Given the description of an element on the screen output the (x, y) to click on. 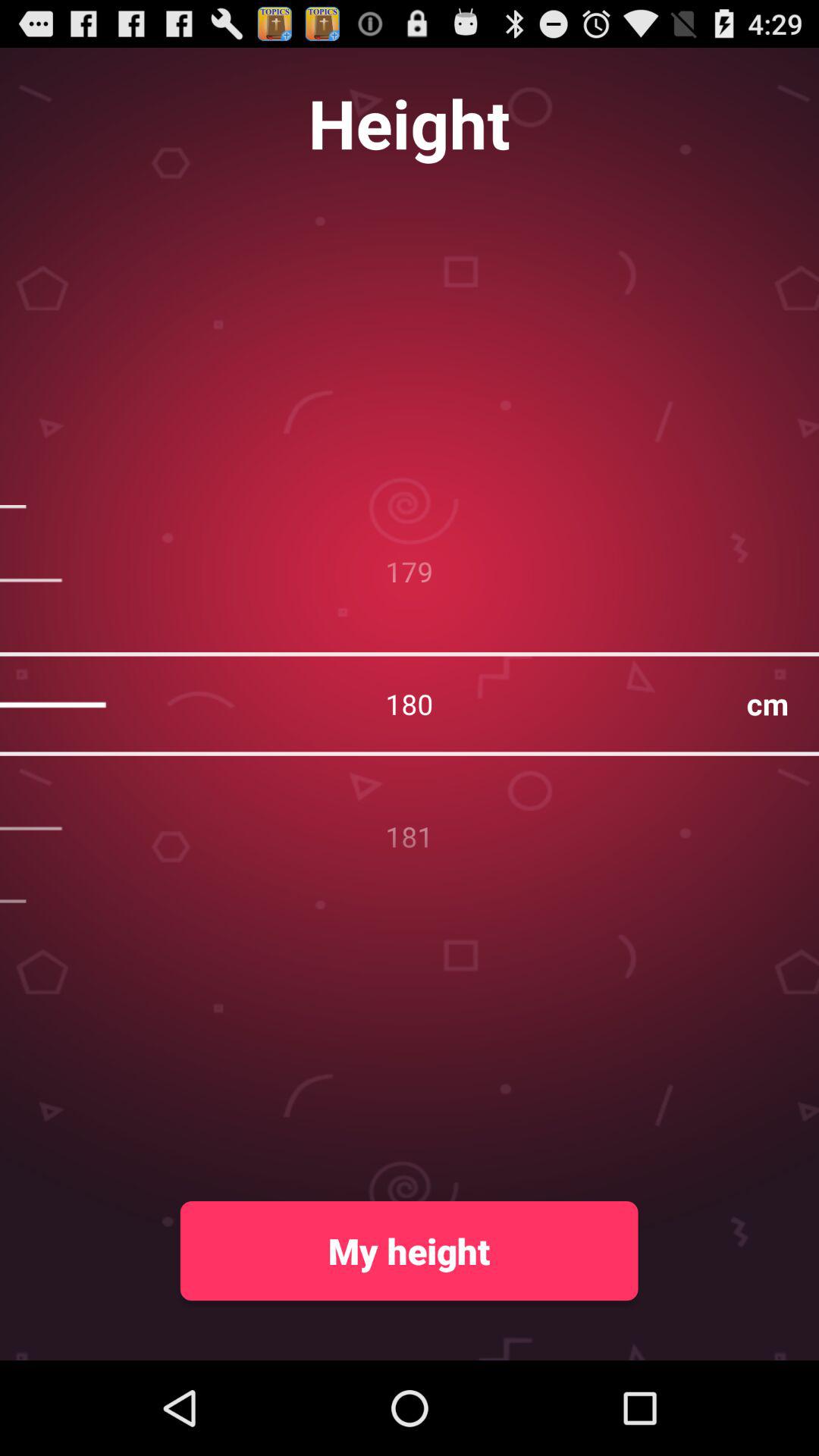
jump until the my height icon (409, 1250)
